Given the description of an element on the screen output the (x, y) to click on. 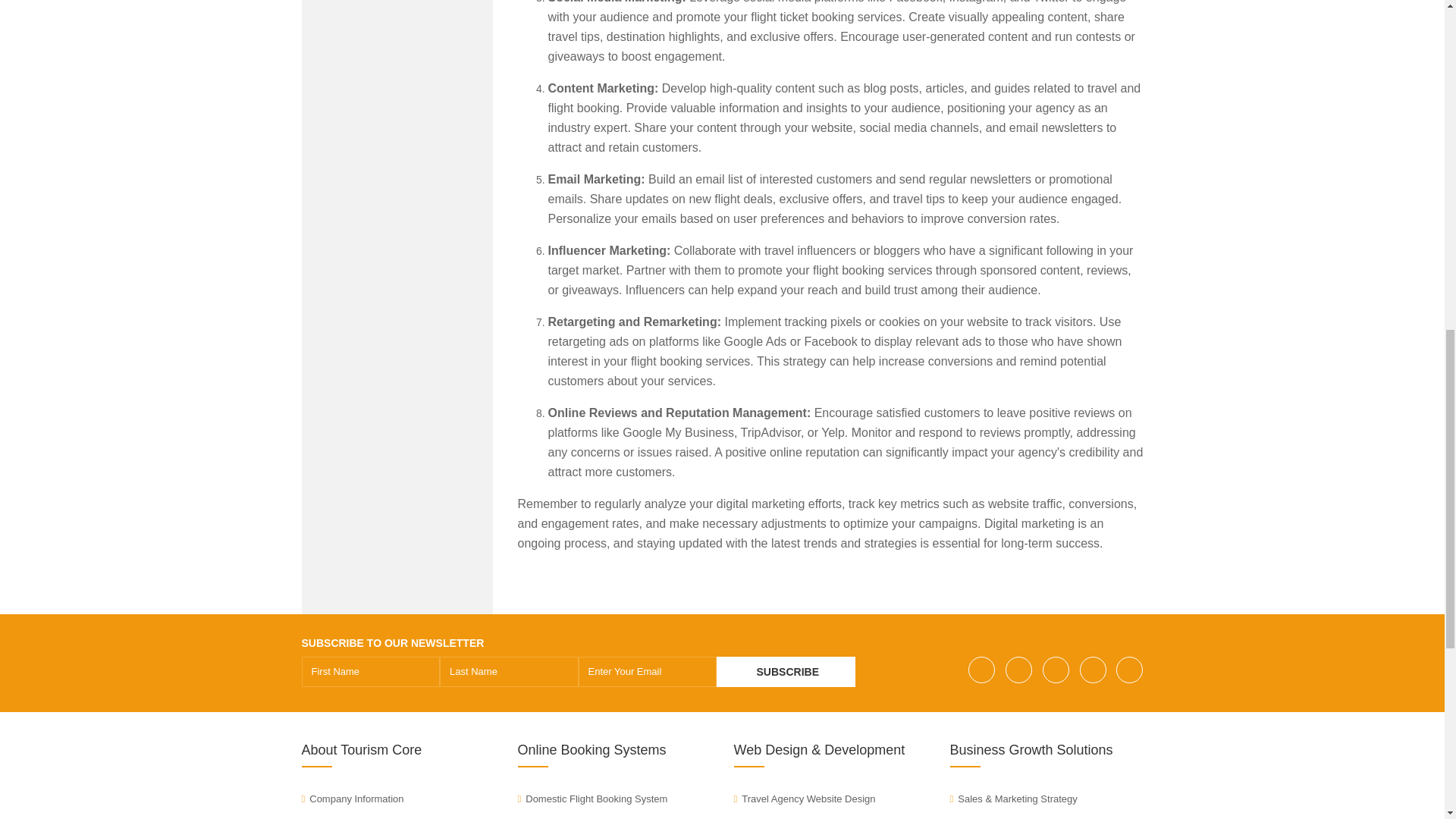
SUBSCRIBE (786, 671)
Company Information (352, 798)
Travel Agency Website Design (804, 798)
Domestic Flight Booking System (591, 798)
